Given the description of an element on the screen output the (x, y) to click on. 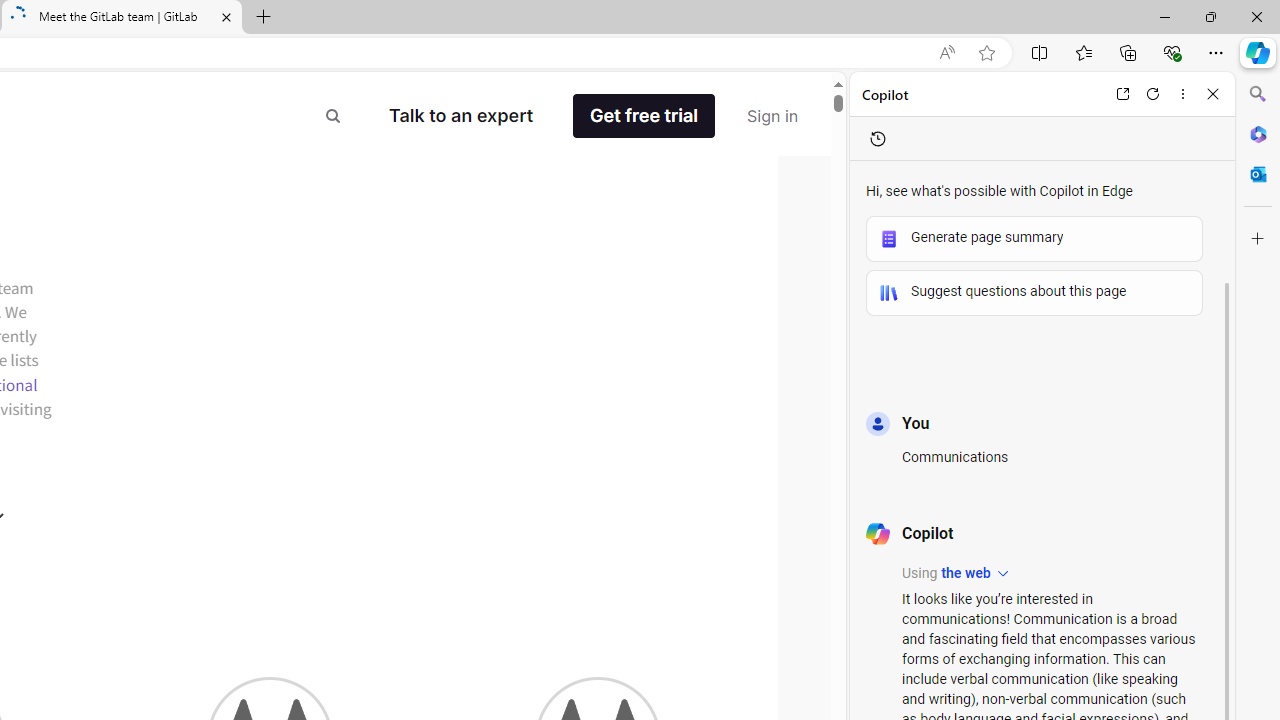
Get free trial (658, 116)
